Given the description of an element on the screen output the (x, y) to click on. 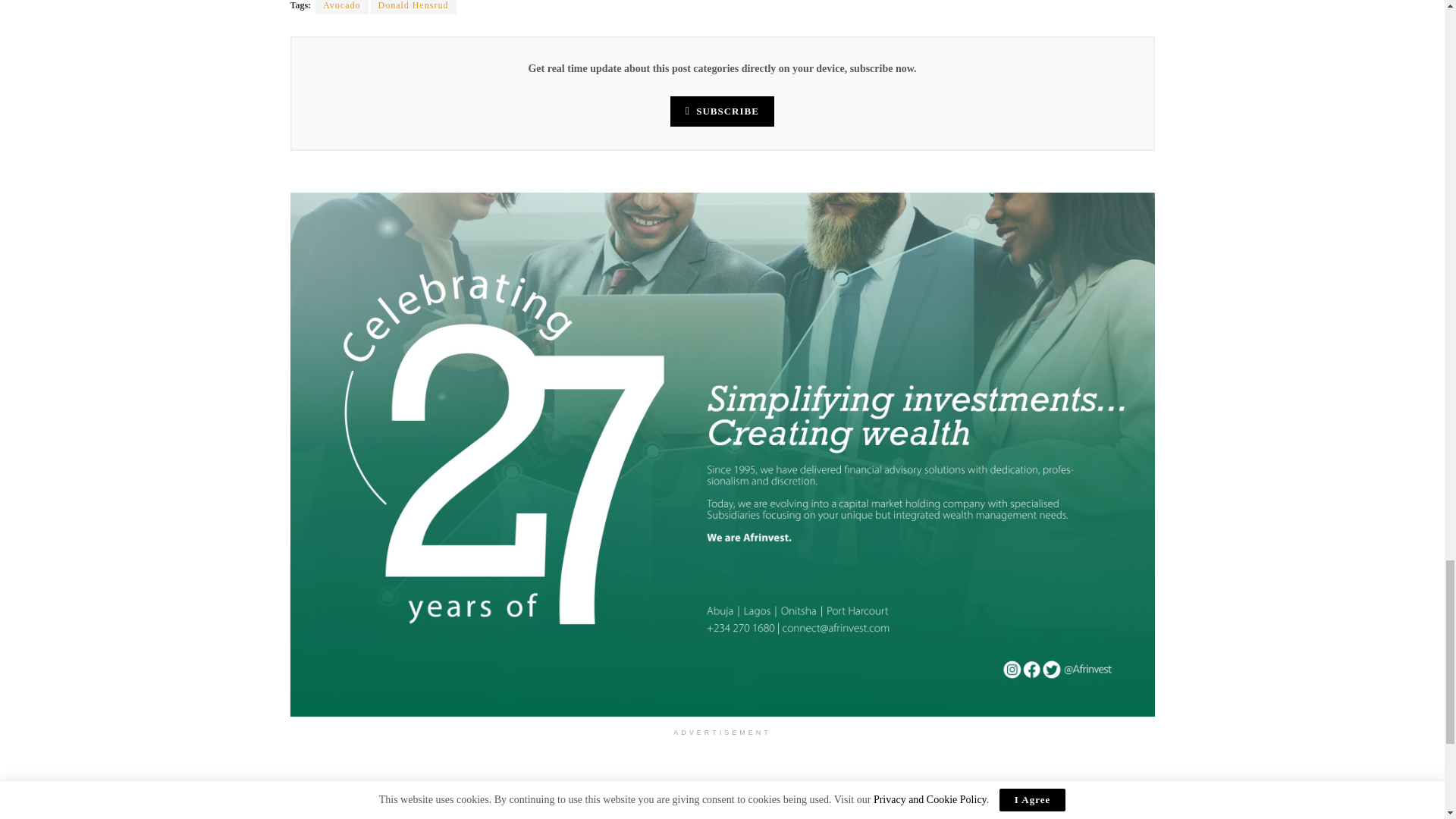
Avocado (341, 7)
Donald Hensrud (414, 7)
SUBSCRIBE (721, 111)
